Given the description of an element on the screen output the (x, y) to click on. 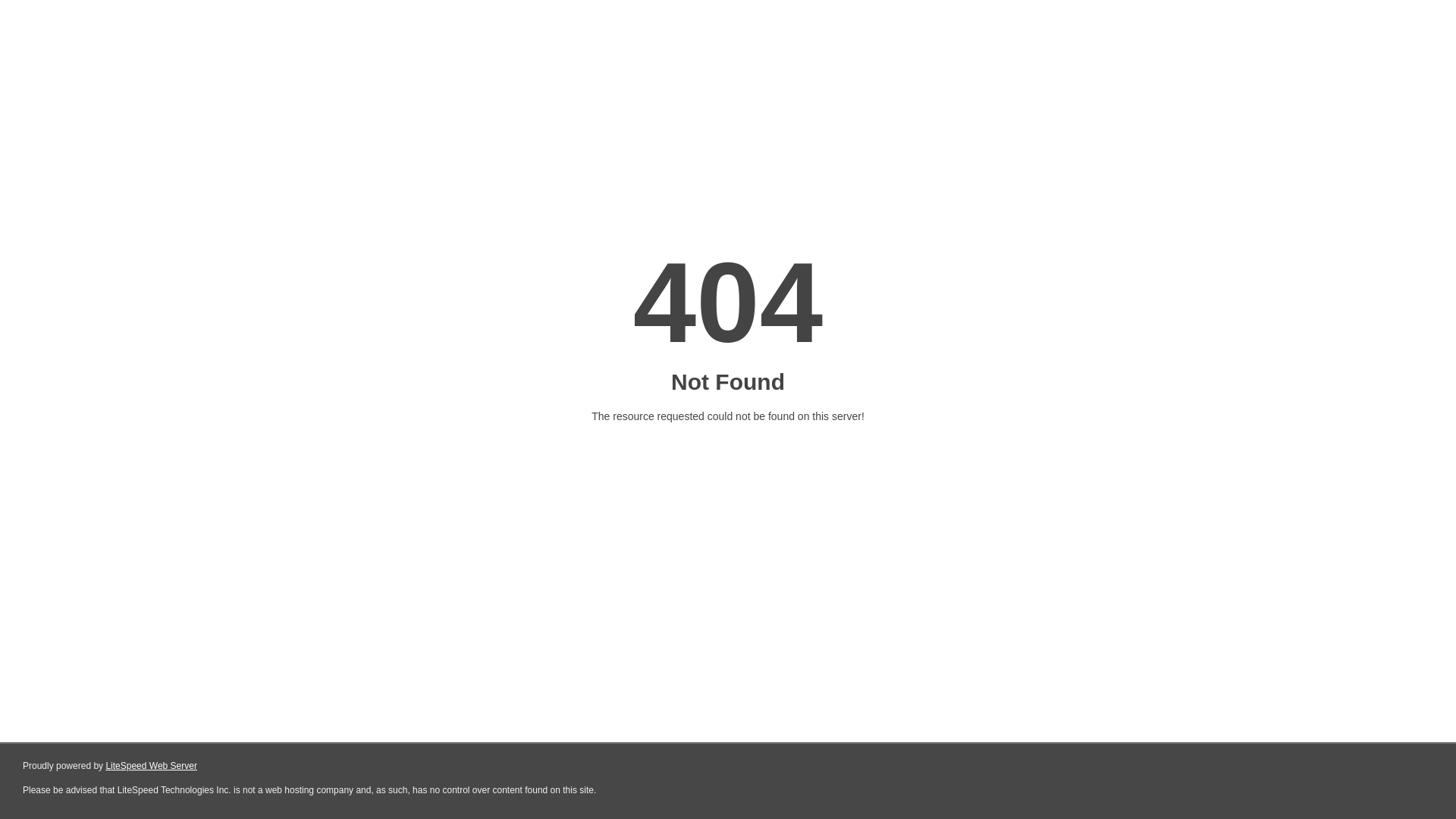
LiteSpeed Web Server Element type: text (151, 765)
